Given the description of an element on the screen output the (x, y) to click on. 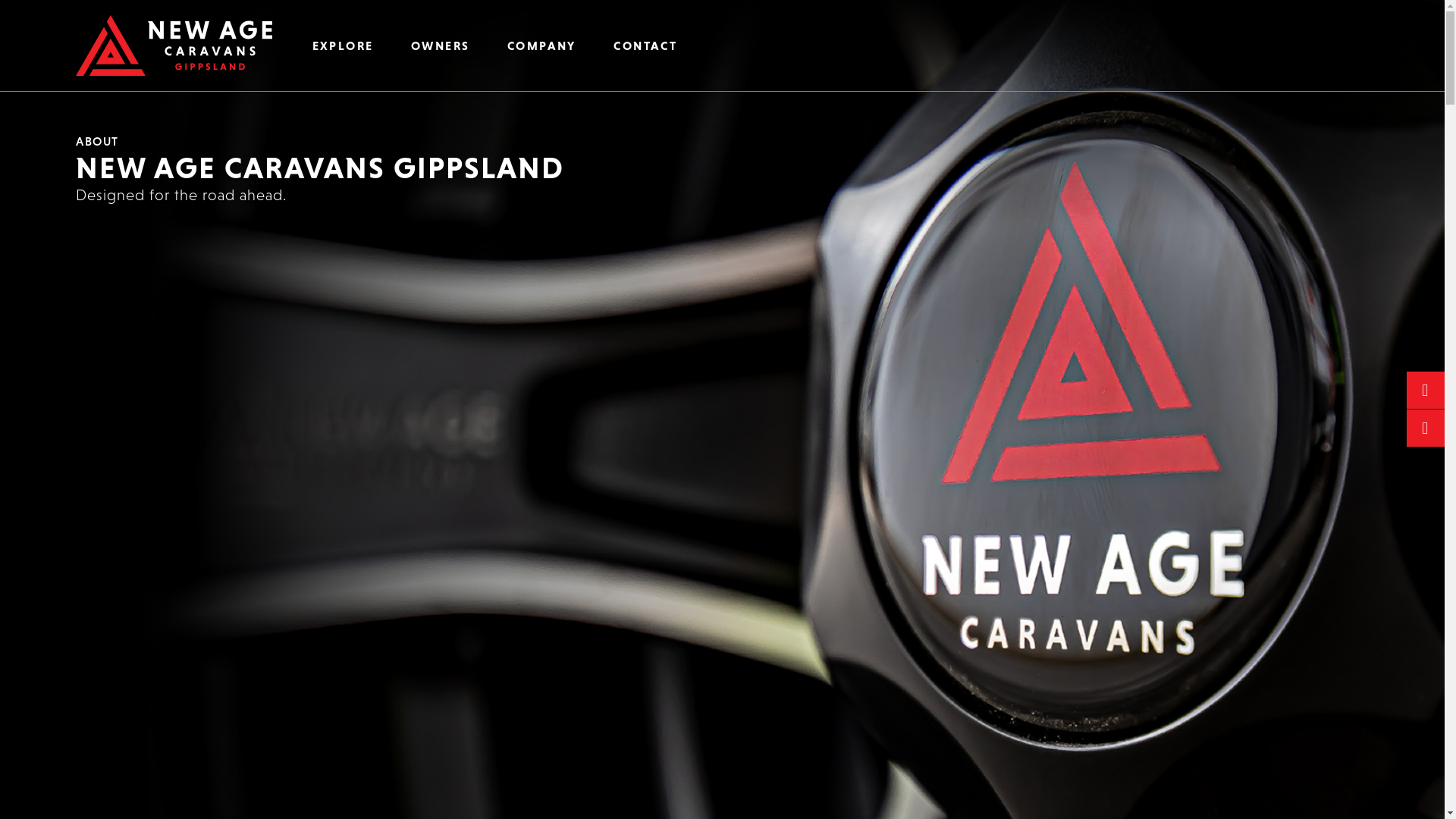
EXPLORE Element type: text (342, 45)
COMPANY Element type: text (541, 45)
CONTACT Element type: text (645, 45)
OWNERS Element type: text (440, 45)
